Given the description of an element on the screen output the (x, y) to click on. 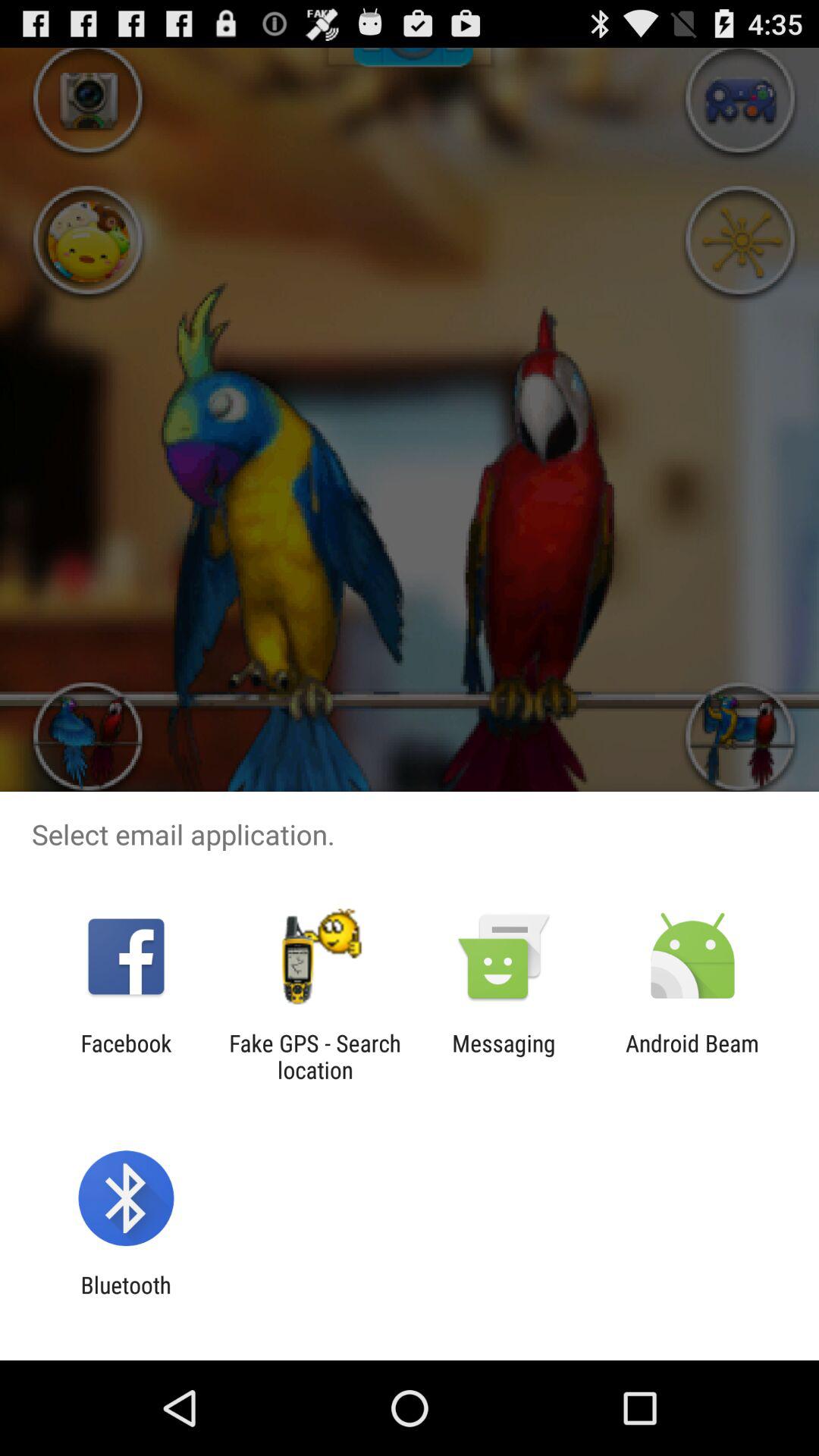
turn off the item to the left of the messaging item (314, 1056)
